Given the description of an element on the screen output the (x, y) to click on. 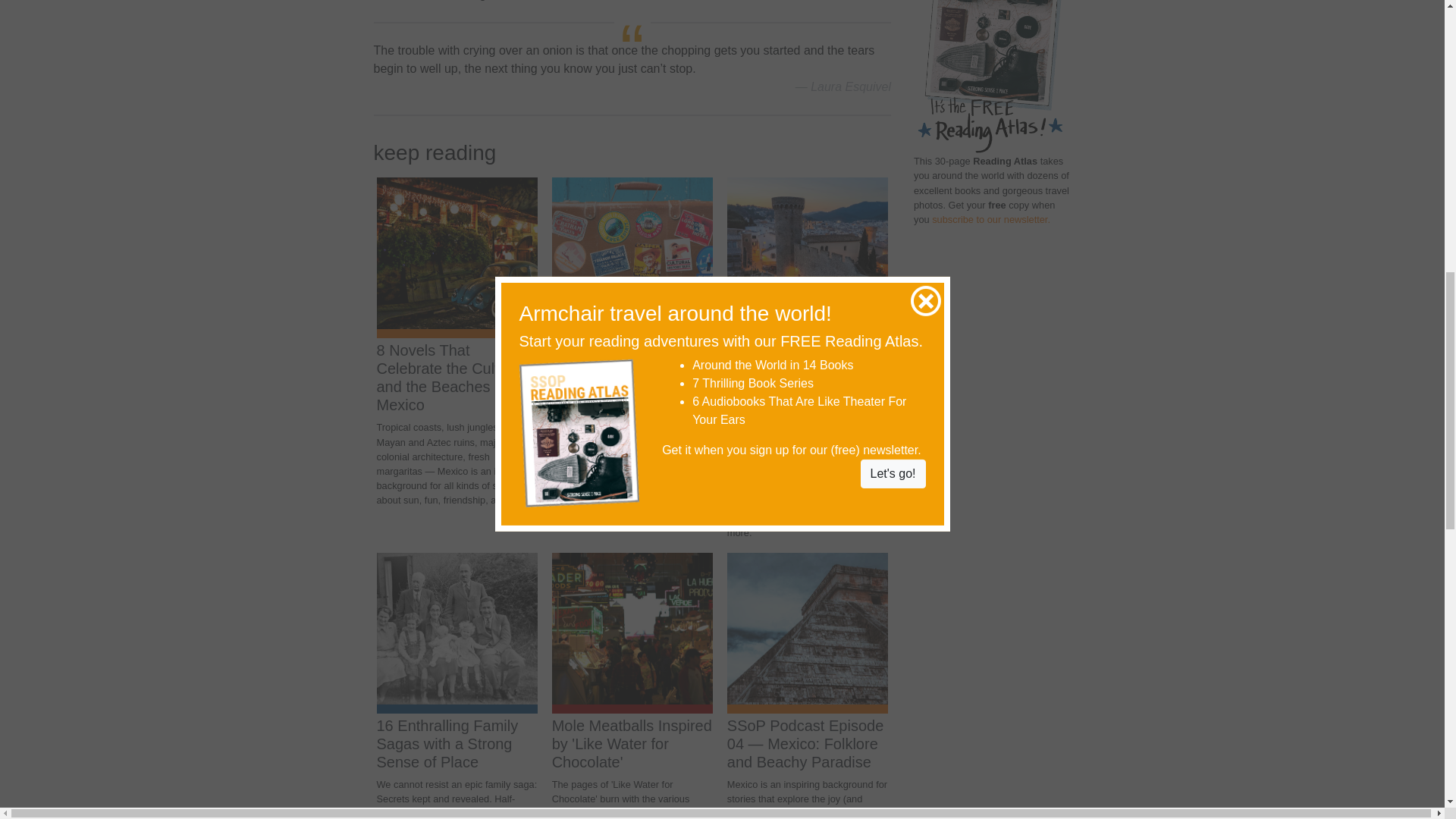
Mole Meatballs Inspired by 'Like Water for Chocolate' (631, 743)
16 Enthralling Family Sagas with a Strong Sense of Place (446, 743)
subscribe to our newsletter. (990, 219)
